Given the description of an element on the screen output the (x, y) to click on. 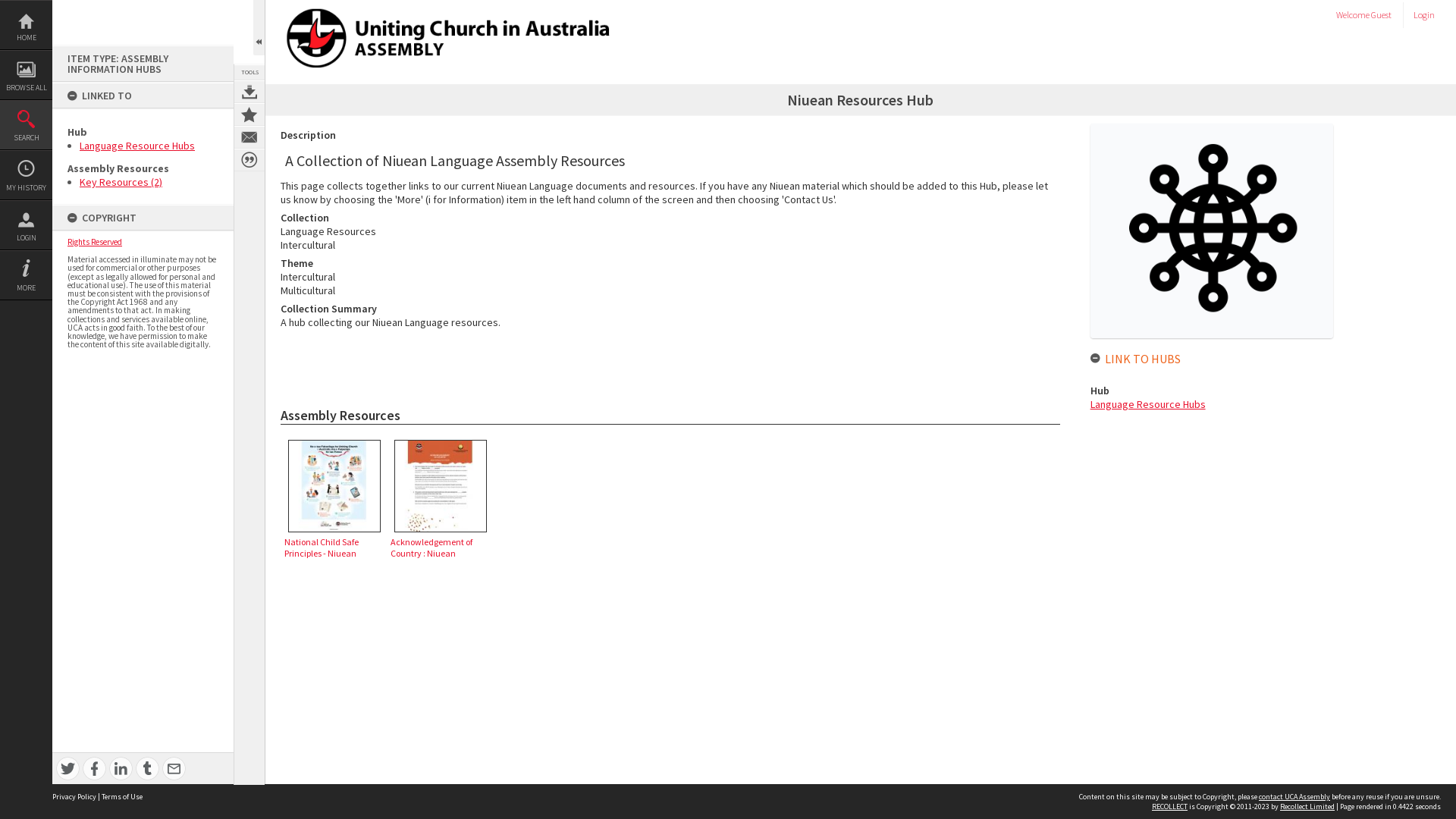
Acknowledgement of Country : Niuean Element type: hover (440, 485)
RECOLLECT Element type: text (1169, 806)
Acknowledgement of Country : Niuean Element type: text (440, 497)
Niuean Resources Hub Element type: hover (1211, 230)
contact UCA Assembly Element type: text (1294, 796)
Privacy Policy Element type: text (74, 796)
National Child Safe Principles - Niuean Element type: text (334, 497)
Share this on Tumblr Element type: hover (147, 768)
Share this on Facebook Element type: hover (94, 768)
HOME Element type: text (26, 24)
Rights Reserved Element type: text (94, 241)
SEARCH Element type: text (26, 124)
LOGIN Element type: text (26, 224)
Contact us about this Element type: text (249, 136)
Language Resource Hubs Element type: text (1147, 404)
Share this via email Element type: hover (173, 768)
Add to My Collection Element type: text (249, 114)
Open/Close Toolbox Element type: text (258, 27)
National Child Safe Principles - Niuean Element type: hover (334, 485)
Download Element type: text (249, 91)
Guest Element type: text (1381, 14)
Citation for this item Element type: text (249, 159)
Recollect Limited Element type: text (1307, 806)
MORE Element type: text (26, 275)
Terms of Use Element type: text (121, 796)
Tweet this on Twitter Element type: hover (67, 768)
Key Resources (2) Element type: text (120, 181)
BROWSE ALL Element type: text (26, 74)
Login Element type: text (1427, 15)
MY HISTORY Element type: text (26, 174)
Language Resource Hubs Element type: text (136, 145)
Share this on LinkedIn Element type: hover (120, 768)
